Given the description of an element on the screen output the (x, y) to click on. 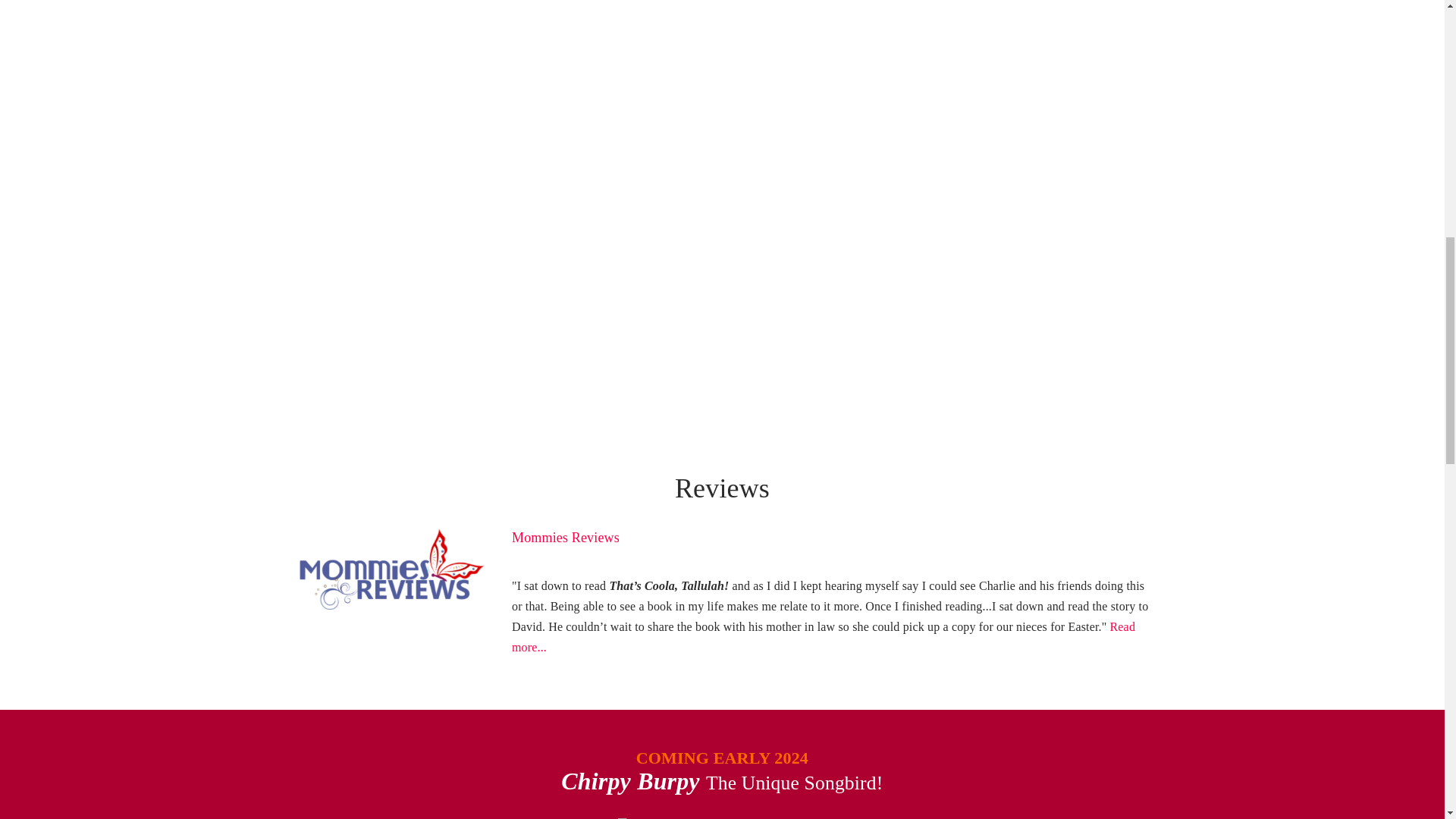
mommies reviews (389, 573)
Mommies Reviews (566, 537)
Read more... (823, 636)
